Given the description of an element on the screen output the (x, y) to click on. 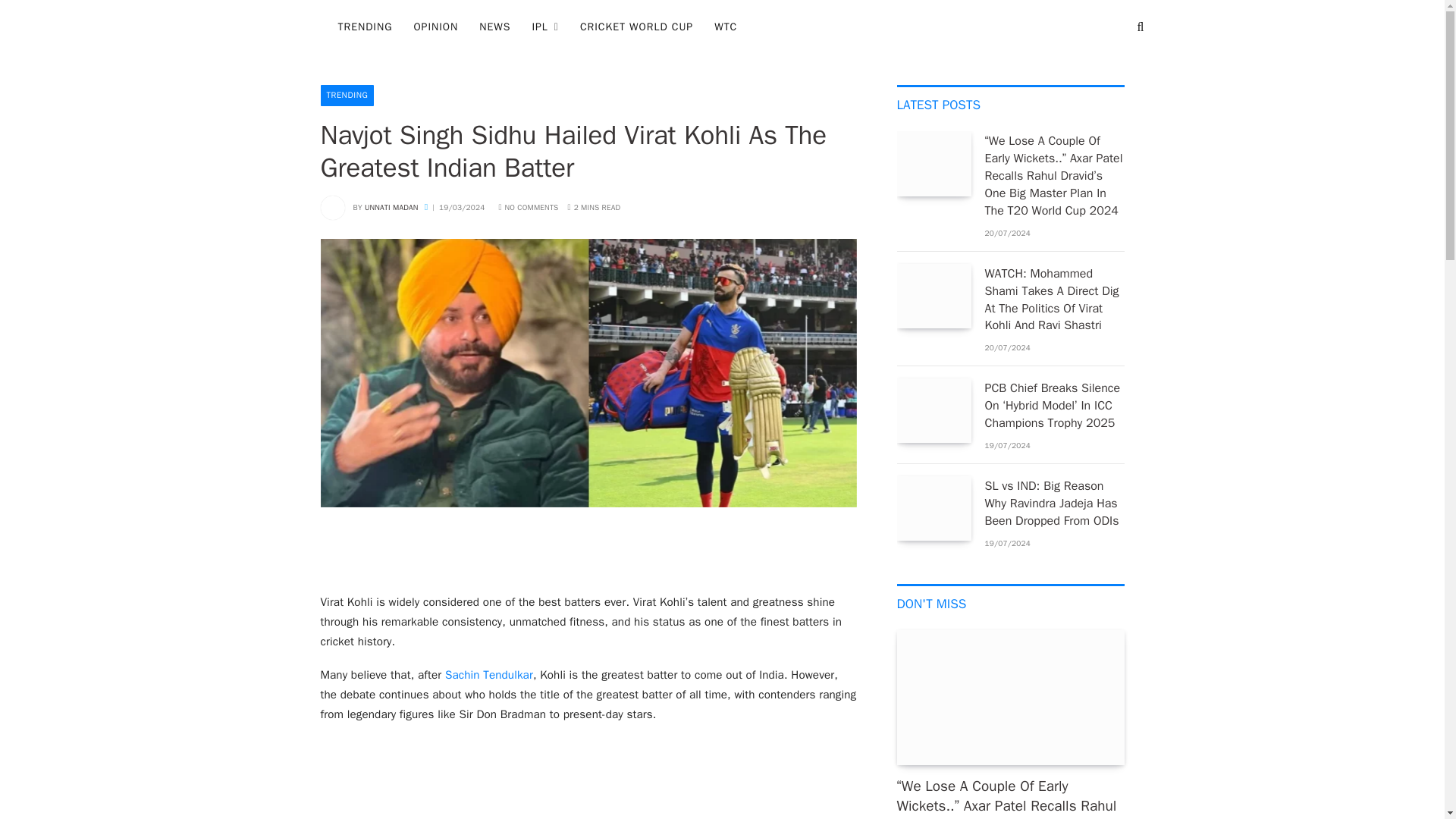
TRENDING (365, 27)
OPINION (435, 27)
NEWS (494, 27)
UNNATI MADAN (392, 207)
NO COMMENTS (527, 207)
IPL (545, 27)
Posts by Unnati Madan (392, 207)
CRICKET WORLD CUP (636, 27)
Sachin Tendulkar (488, 674)
TRENDING (347, 95)
